Given the description of an element on the screen output the (x, y) to click on. 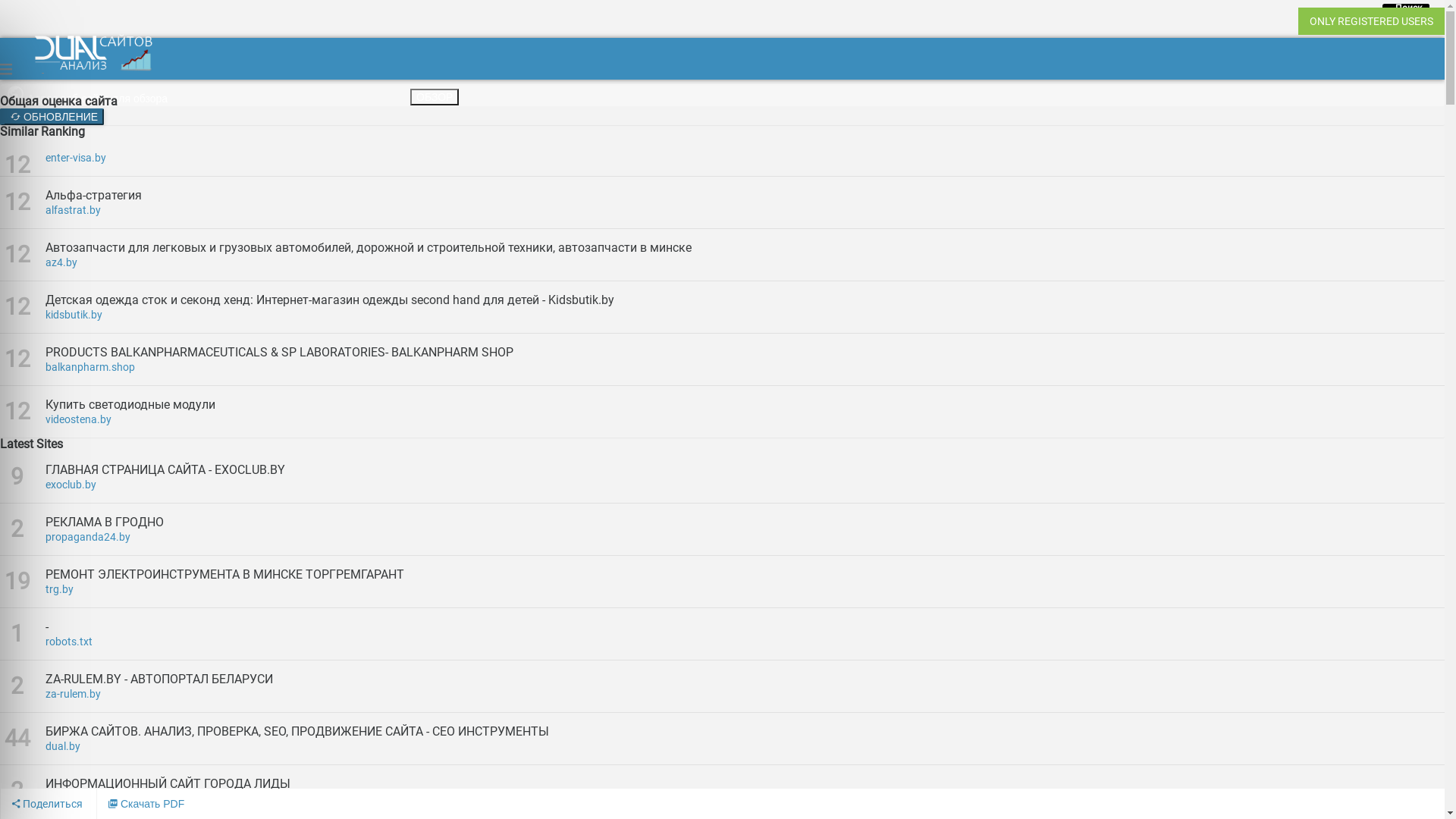
bizlida.by Element type: text (744, 798)
robots.txt Element type: text (744, 641)
alfastrat.by Element type: text (744, 209)
trg.by Element type: text (744, 589)
enter-visa.by Element type: text (744, 157)
za-rulem.by Element type: text (744, 693)
propaganda24.by Element type: text (744, 536)
exoclub.by Element type: text (744, 484)
videostena.by Element type: text (744, 419)
az4.by Element type: text (744, 262)
dual.by Element type: text (744, 746)
balkanpharm.shop Element type: text (744, 366)
kidsbutik.by Element type: text (744, 314)
